Given the description of an element on the screen output the (x, y) to click on. 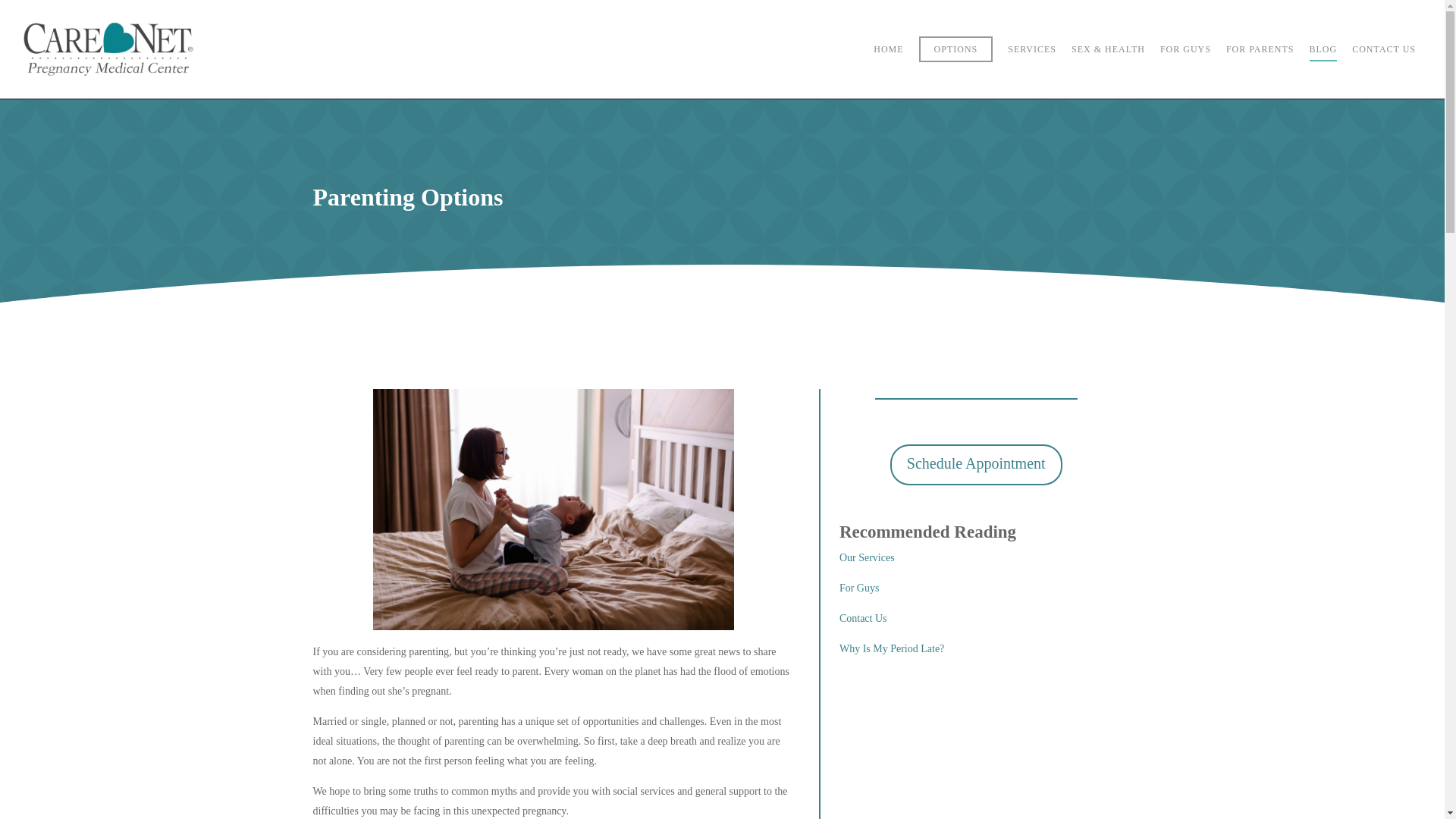
Schedule Appointment (975, 464)
For Guys (859, 591)
Our Services (867, 561)
Why Is My Period Late? (891, 651)
OPTIONS (955, 59)
Contact Us (863, 621)
